Given the description of an element on the screen output the (x, y) to click on. 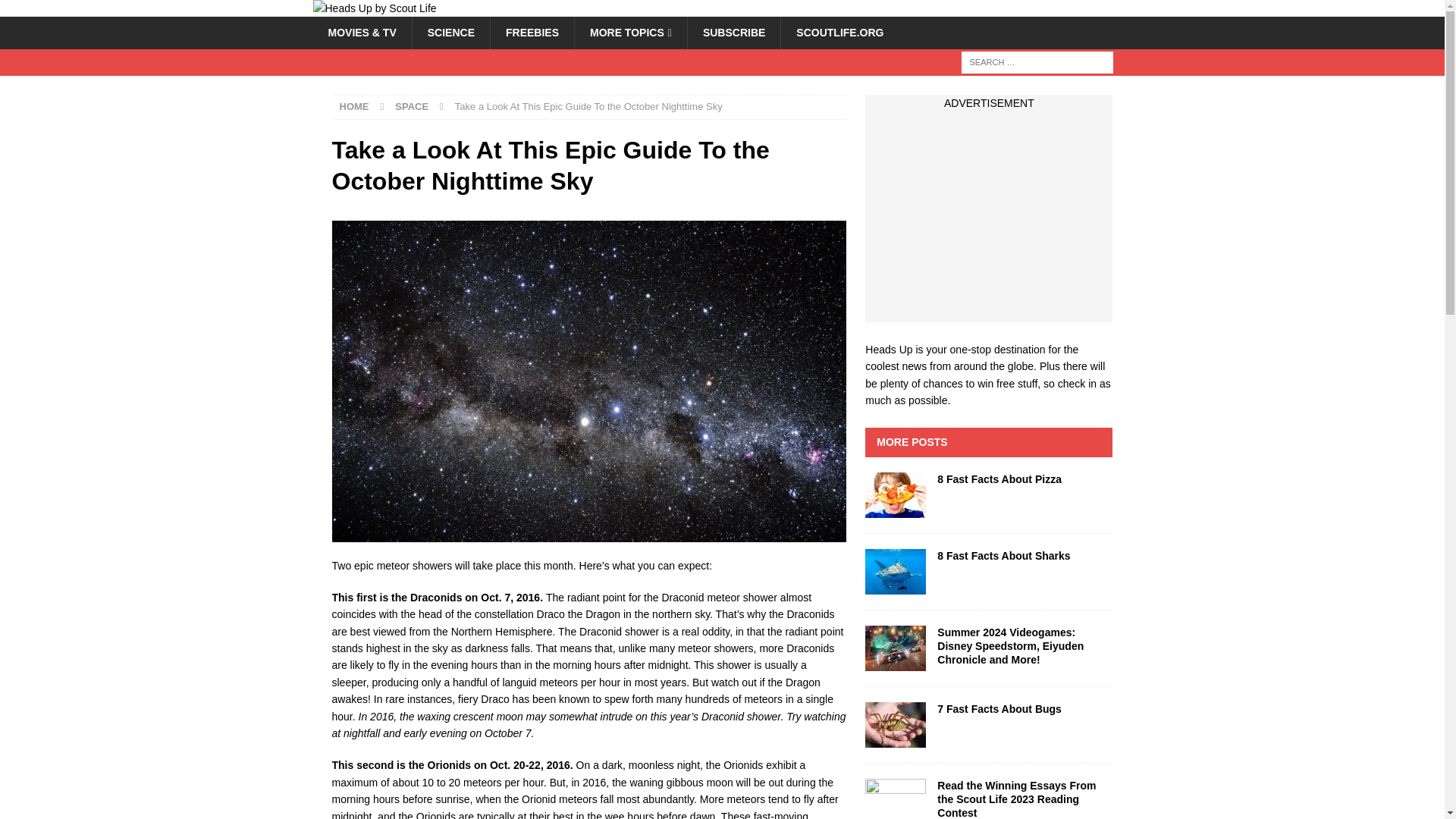
8 Fast Facts About Sharks (895, 571)
8 Fast Facts About Pizza (999, 479)
Search (56, 11)
SPACE (411, 106)
FREEBIES (531, 32)
8 Fast Facts About Sharks (1003, 555)
8 Fast Facts About Pizza (895, 494)
SUBSCRIBE (733, 32)
MORE POSTS (911, 441)
8 Fast Facts About Sharks (1003, 555)
